Given the description of an element on the screen output the (x, y) to click on. 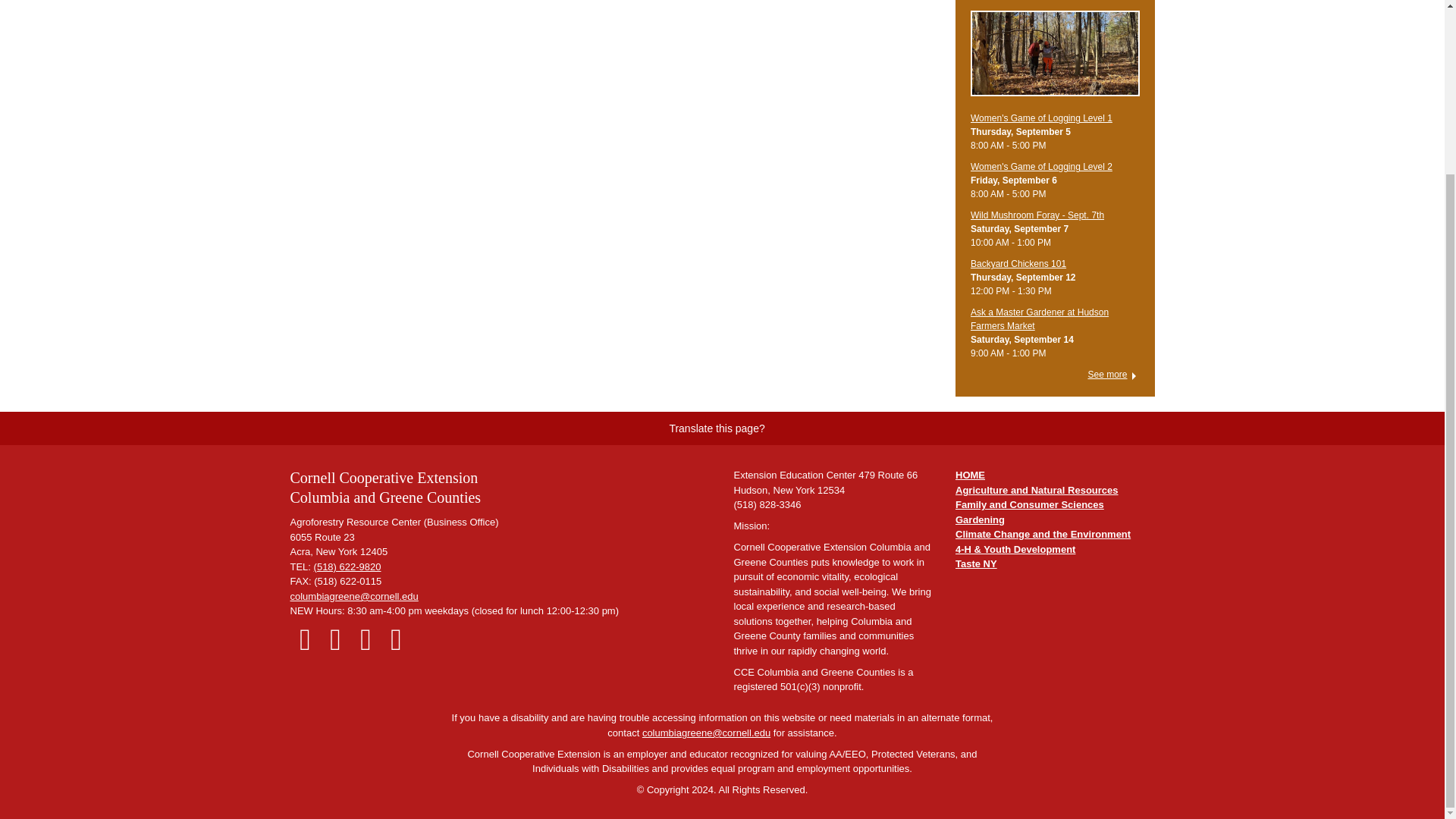
Backyard Chickens 101 (1018, 263)
Women's Game of Logging Level 1 (1041, 118)
Women's Game of Logging Level 1 (1055, 60)
Wild Mushroom Foray - Sept. 7th (1037, 214)
See more (1112, 374)
Ask a Master Gardener at Hudson Farmers Market (1039, 319)
Women's Game of Logging Level 2 (1041, 166)
